Given the description of an element on the screen output the (x, y) to click on. 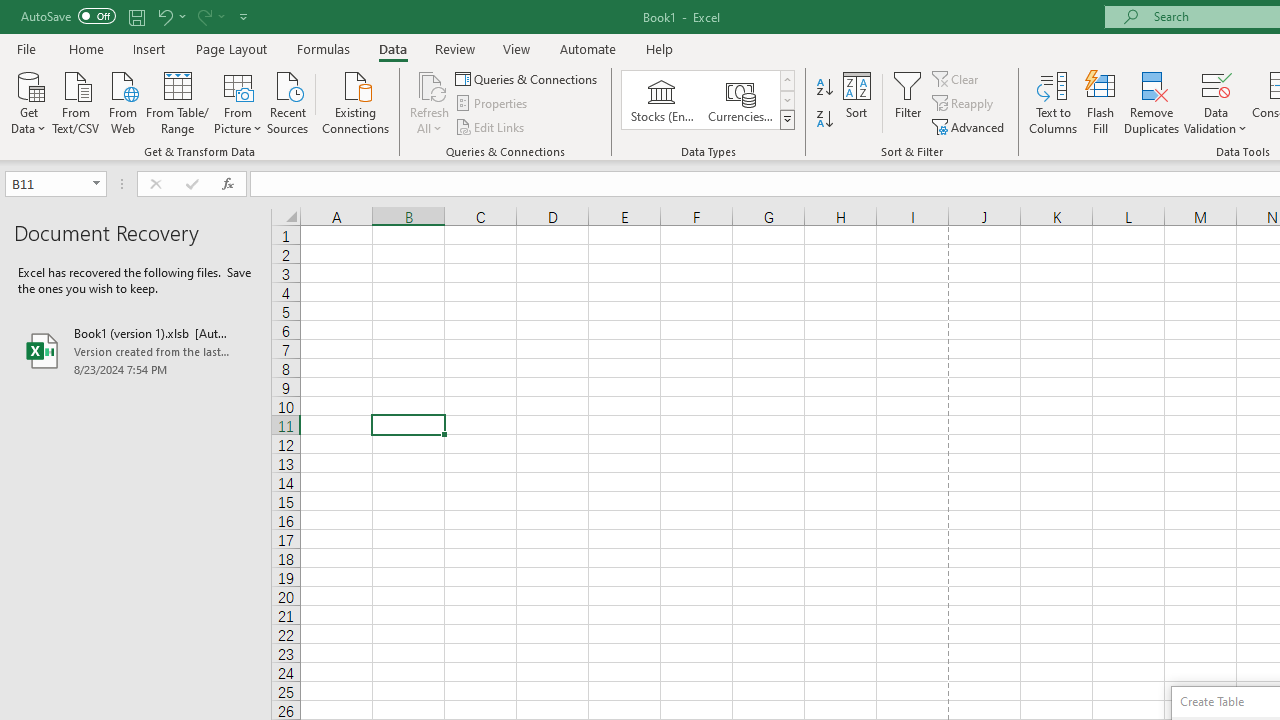
Existing Connections (355, 101)
Sort Z to A (824, 119)
From Table/Range (177, 101)
Recent Sources (287, 101)
Queries & Connections (527, 78)
Currencies (English) (740, 100)
Reapply (964, 103)
